Given the description of an element on the screen output the (x, y) to click on. 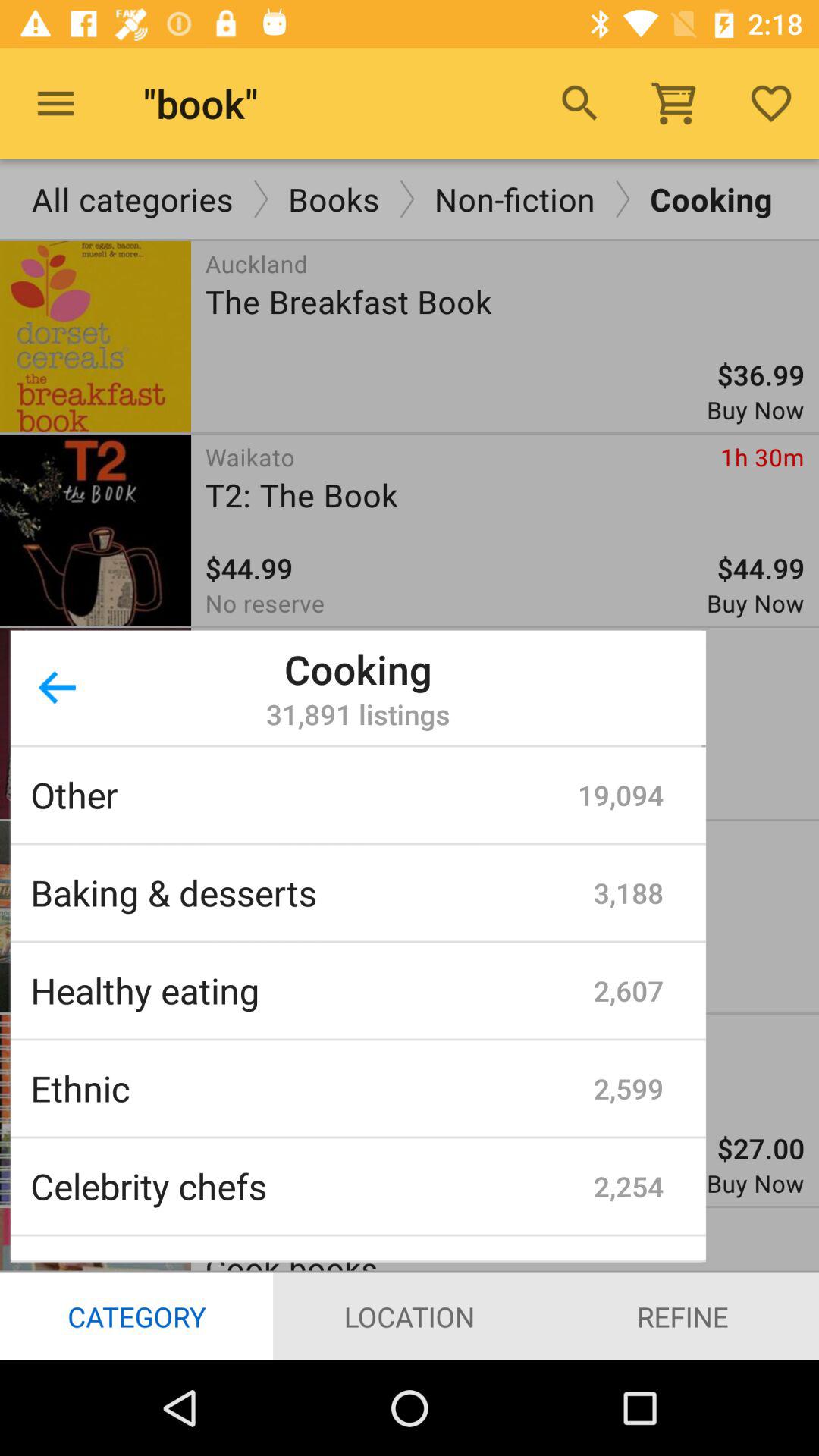
press item above the celebrity chefs (311, 1088)
